Given the description of an element on the screen output the (x, y) to click on. 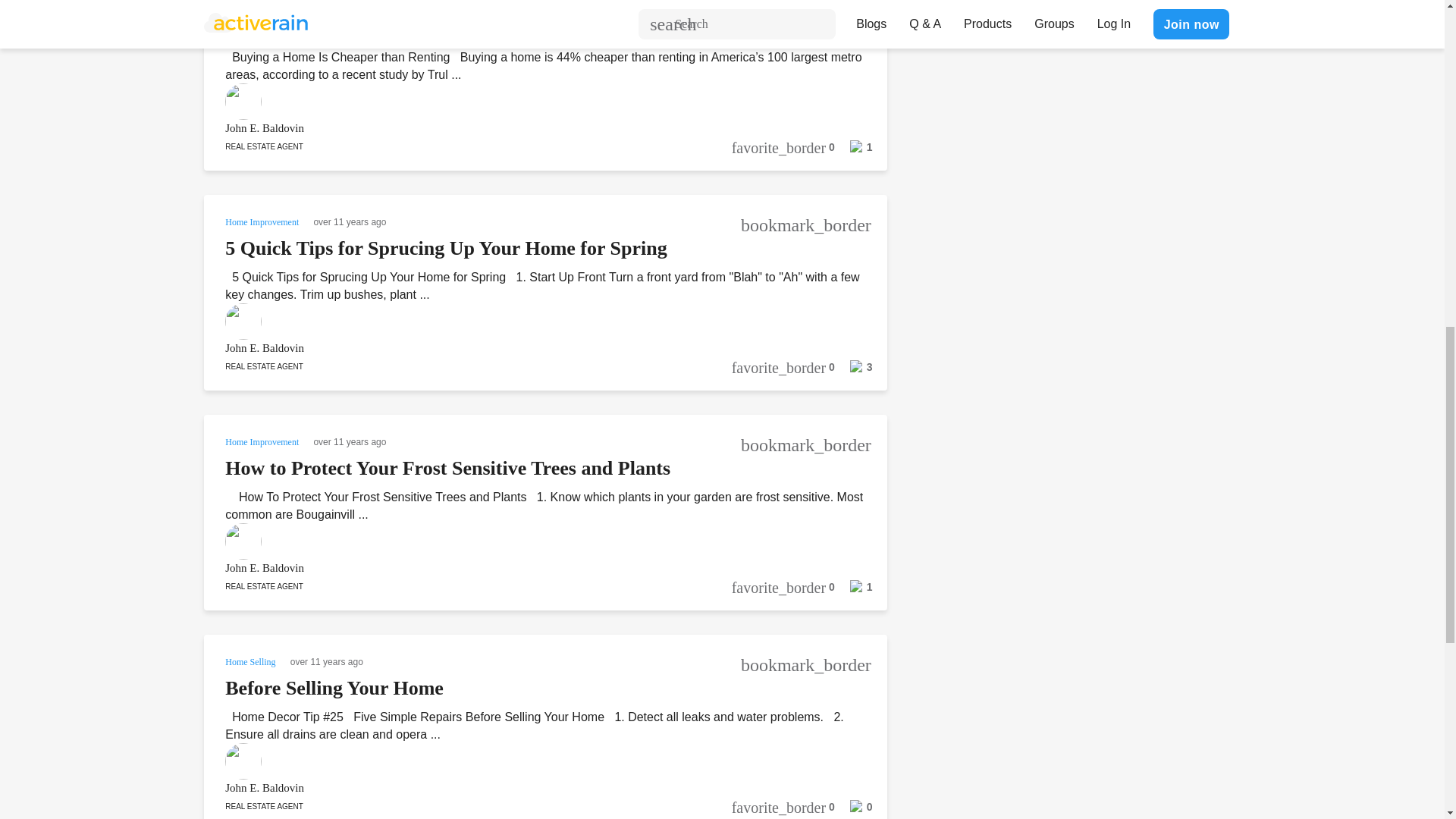
John E. Baldovin (525, 128)
Home Improvement (263, 220)
1 (853, 151)
John E. Baldovin (525, 348)
Home Improvement (263, 440)
How to Protect Your Frost Sensitive Trees and Plants (447, 468)
3 (853, 371)
Home Buying (252, 3)
5 Quick Tips for Sprucing Up Your Home for Spring (445, 248)
